Given the description of an element on the screen output the (x, y) to click on. 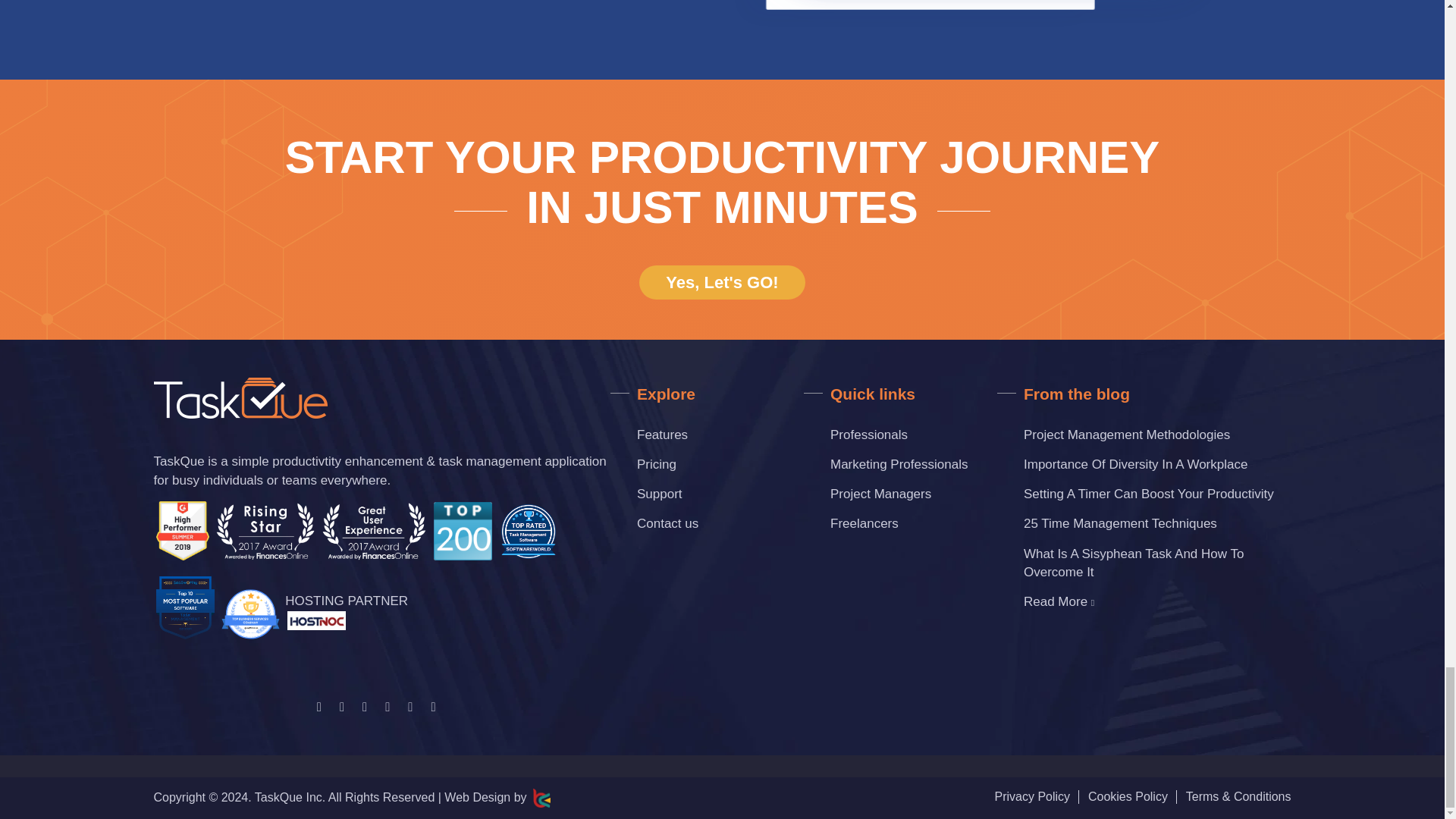
HOSTING PARTNER (346, 610)
Web Design Company in Dubai (538, 797)
Yes, Let's GO! (722, 282)
